Given the description of an element on the screen output the (x, y) to click on. 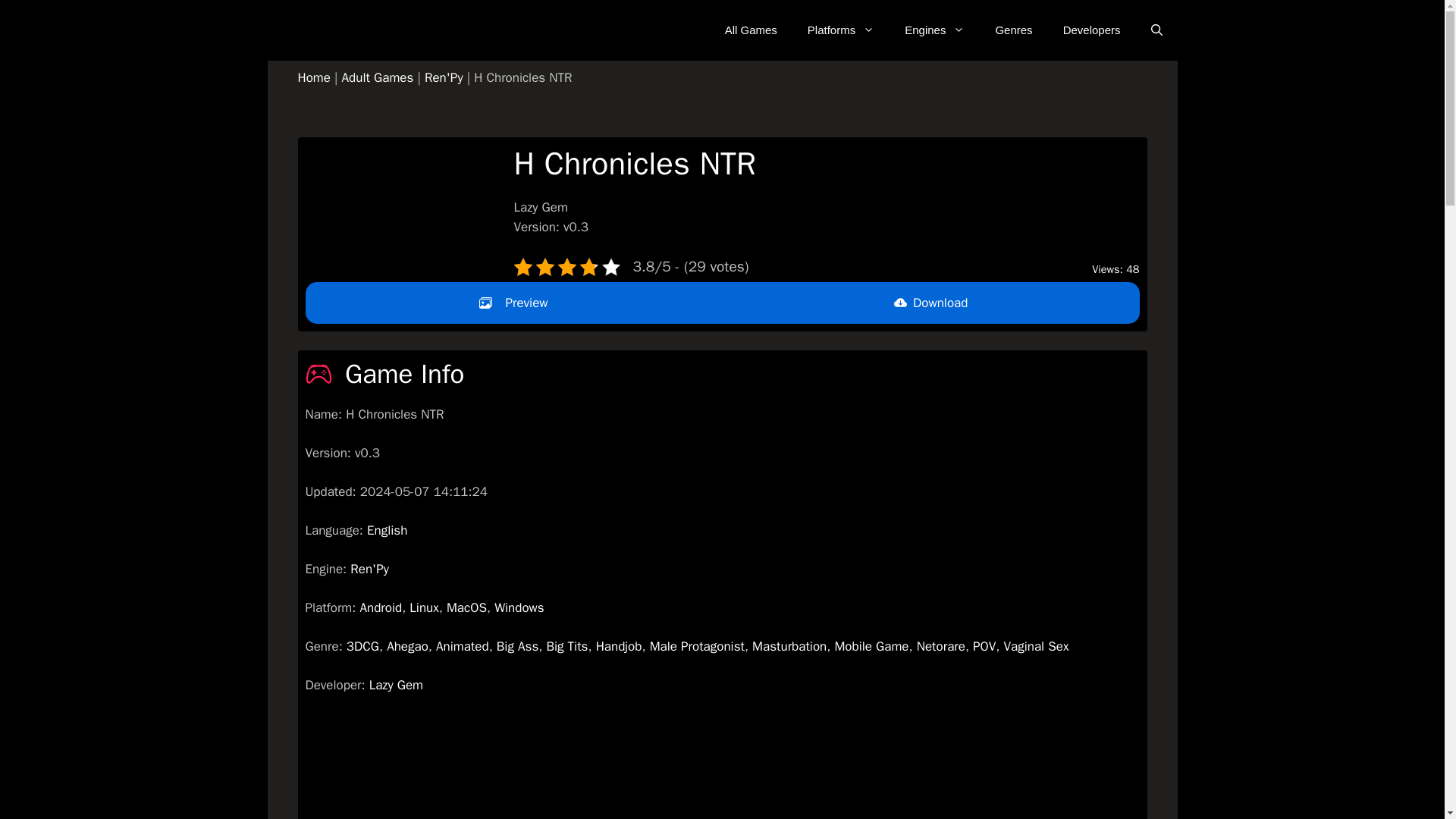
3DCG (362, 646)
Genres (1012, 30)
CUNTHUB (289, 30)
Developers (1091, 30)
Ren'Py (369, 569)
Download (930, 302)
Mobile Game (871, 646)
Engines (934, 30)
Home (313, 77)
Animated (462, 646)
Ren'Py (444, 77)
Big Ass (517, 646)
Big Tits (567, 646)
Male Protagonist (696, 646)
Netorare (941, 646)
